Given the description of an element on the screen output the (x, y) to click on. 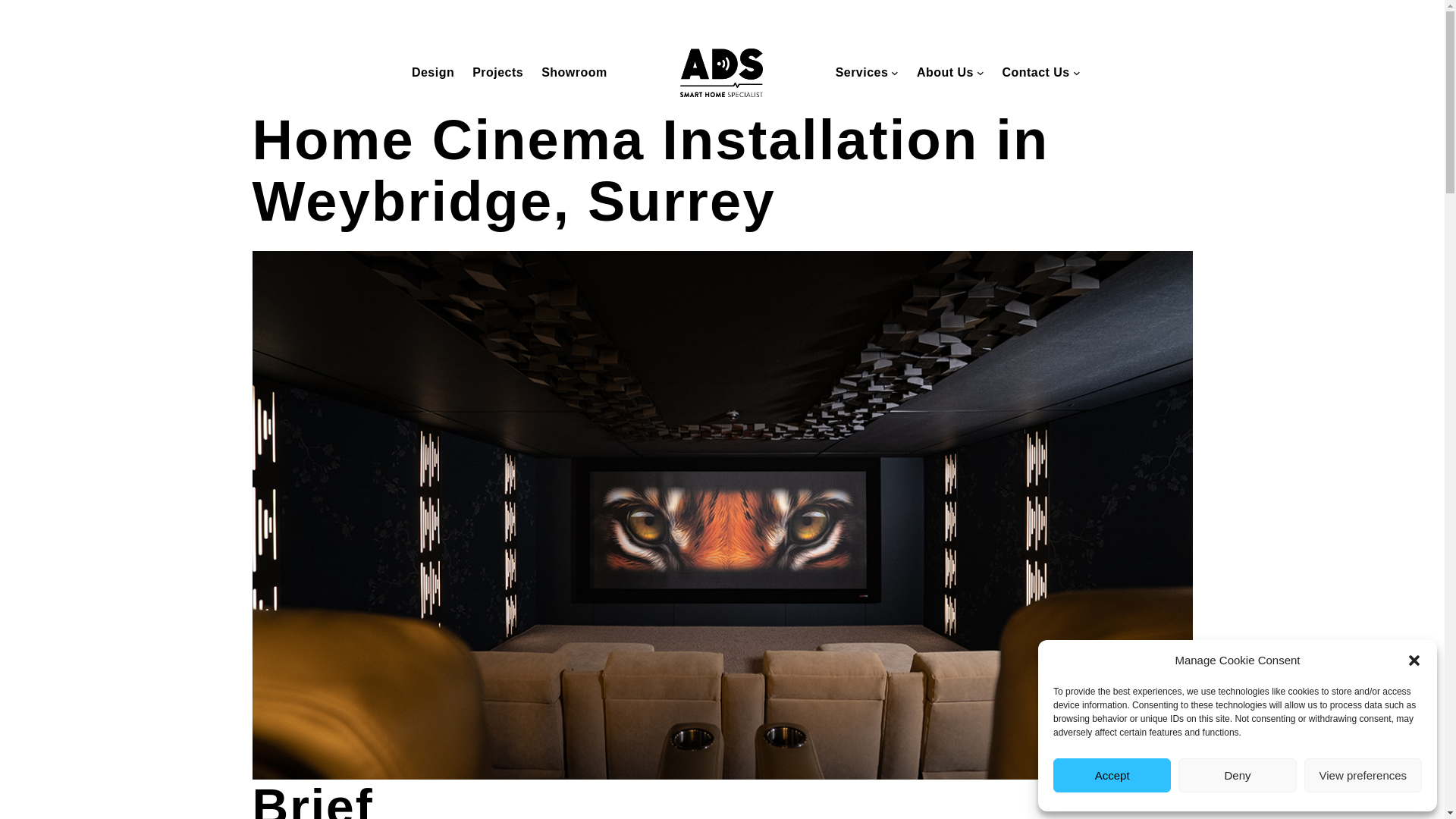
Deny (1236, 775)
About Us (945, 72)
0800 876 6258 (791, 18)
Accept (1111, 775)
Design (433, 72)
Projects (496, 72)
View preferences (1363, 775)
Services (861, 72)
Showroom (574, 72)
